Given the description of an element on the screen output the (x, y) to click on. 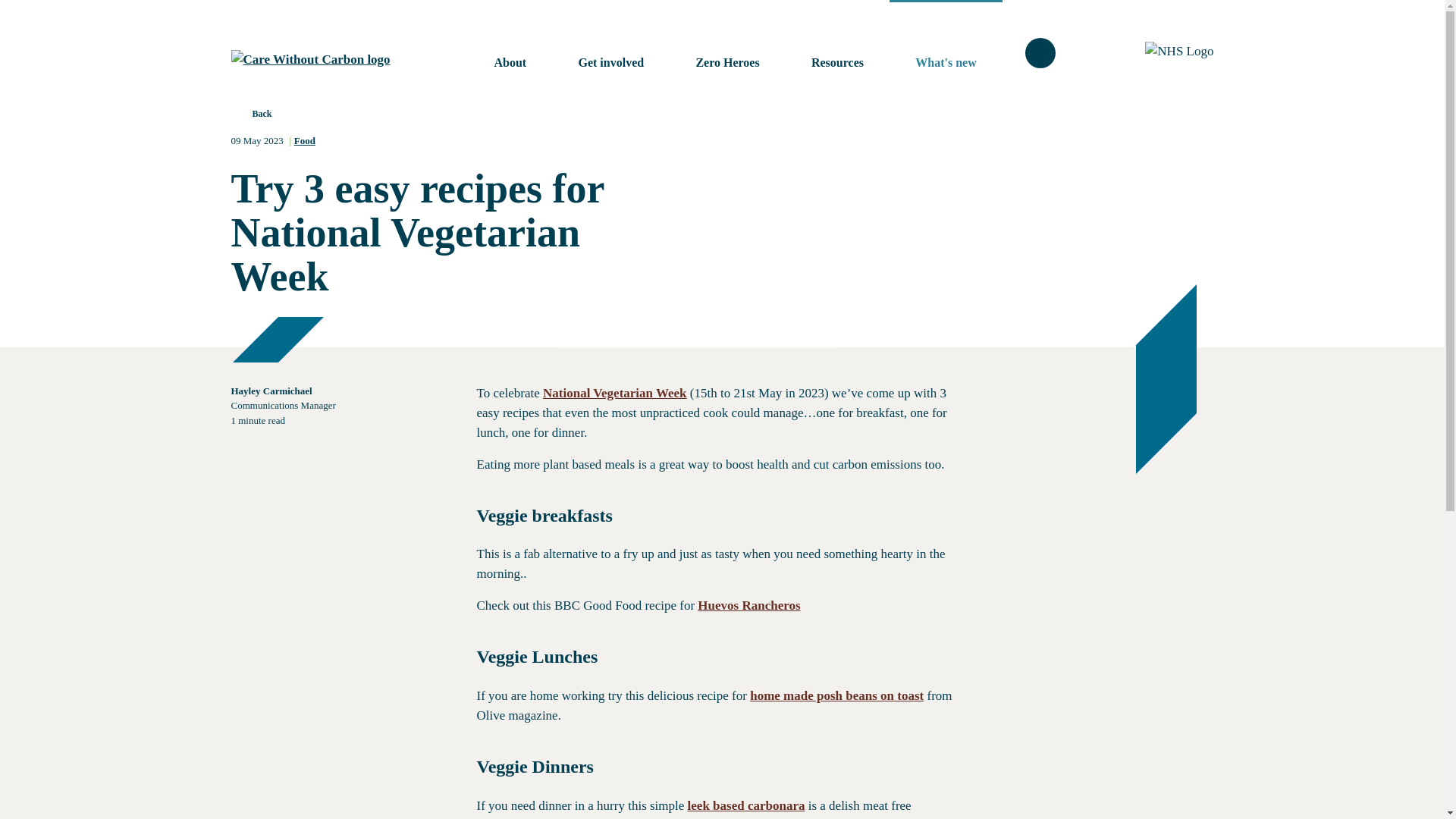
Back (250, 119)
Zero Heroes (726, 62)
National Vegetarian Week (615, 392)
About (511, 62)
home made posh beans on toast (836, 695)
Food (304, 140)
What's new (945, 62)
Get involved (610, 62)
leek based carbonara (746, 805)
Huevos Rancheros (748, 605)
Resources (836, 62)
